Given the description of an element on the screen output the (x, y) to click on. 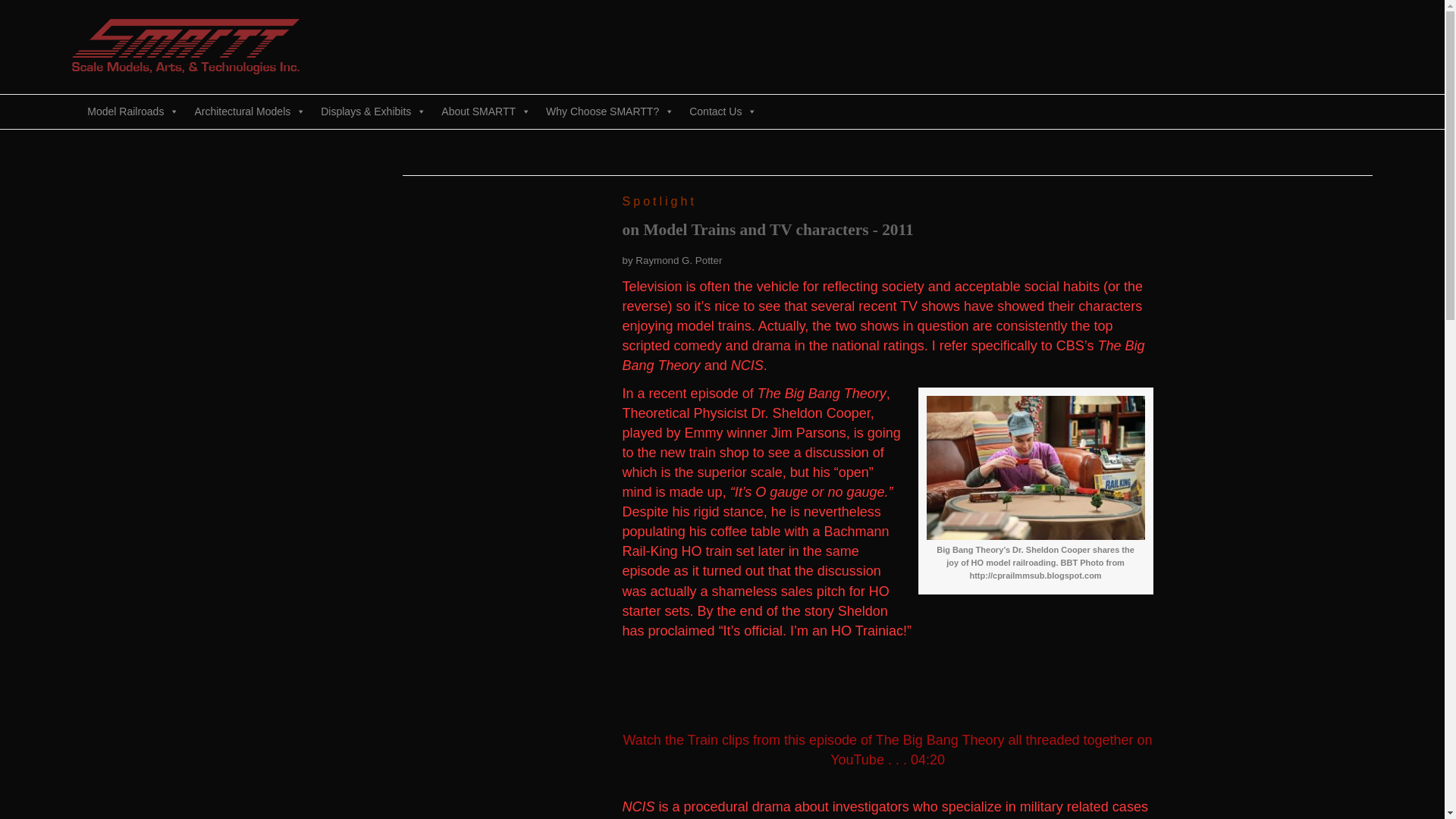
Why Choose SMARTT? (609, 111)
About SMARTT (485, 111)
Architectural Models (249, 111)
Model Railroads (133, 111)
